Given the description of an element on the screen output the (x, y) to click on. 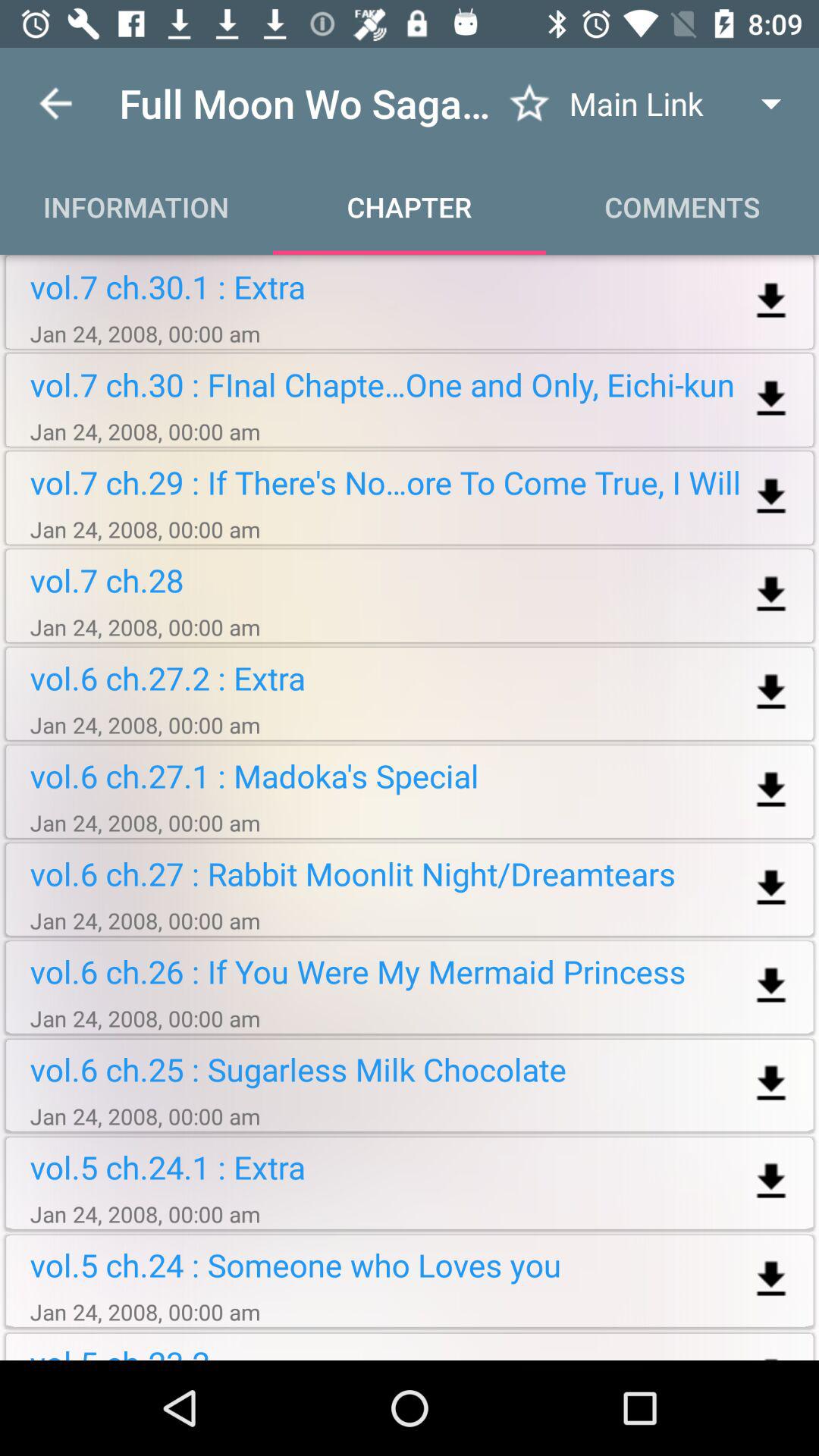
saves to favorites (529, 103)
